Given the description of an element on the screen output the (x, y) to click on. 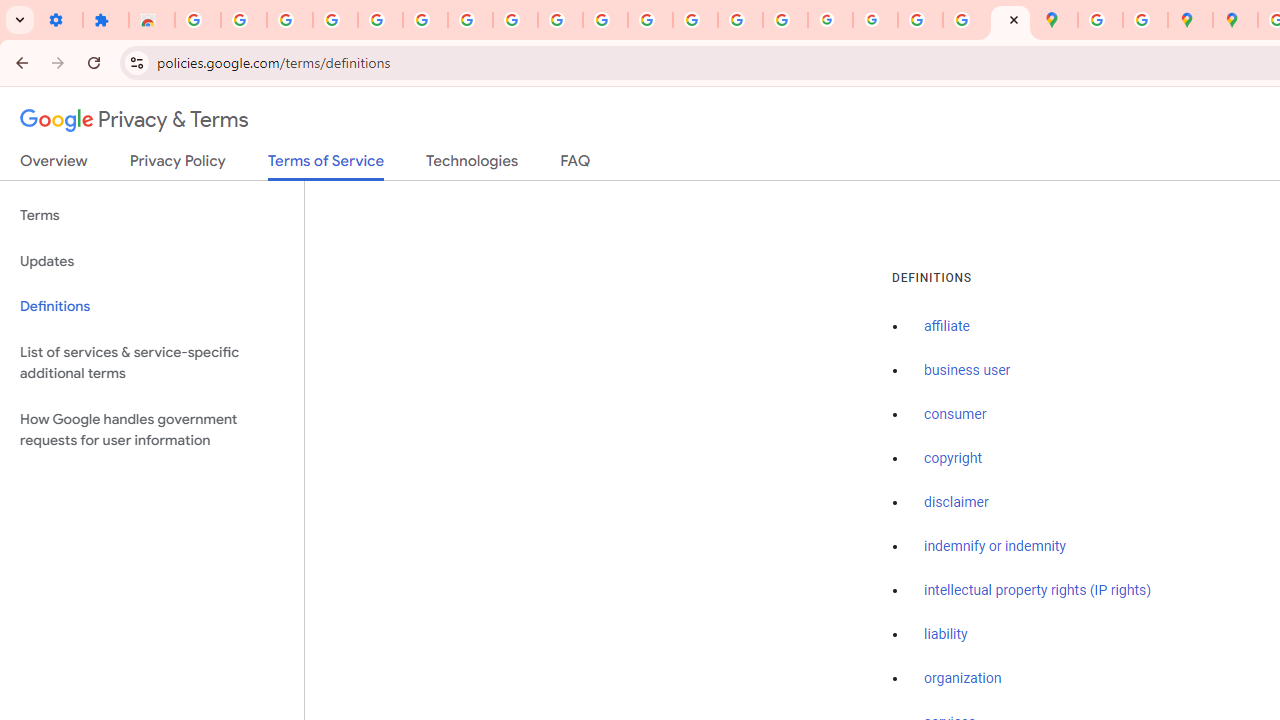
liability (945, 634)
Sign in - Google Accounts (198, 20)
List of services & service-specific additional terms (152, 362)
Terms of Service (326, 166)
intellectual property rights (IP rights) (1038, 590)
